Given the description of an element on the screen output the (x, y) to click on. 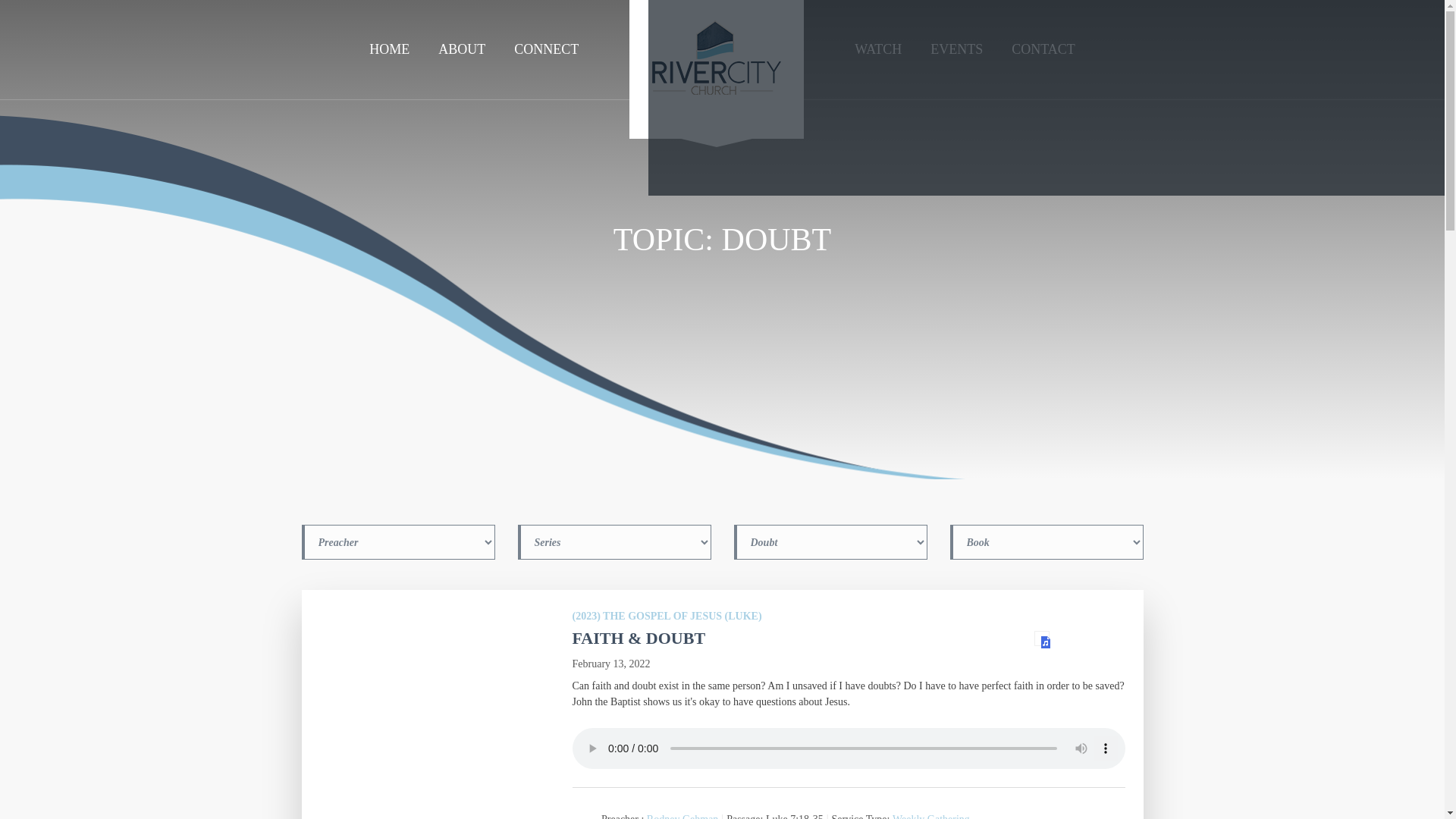
Topic (830, 541)
CONNECT (545, 49)
Series (613, 541)
Audio (1041, 638)
Share via Instagram (1046, 97)
CONTACT (1043, 49)
Share via Twitter (1307, 97)
Rodney Gehman (681, 816)
Weekly Gathering (930, 816)
Preacher (398, 541)
Share via Facebook (784, 97)
Book (1045, 541)
LOGO (715, 73)
